Given the description of an element on the screen output the (x, y) to click on. 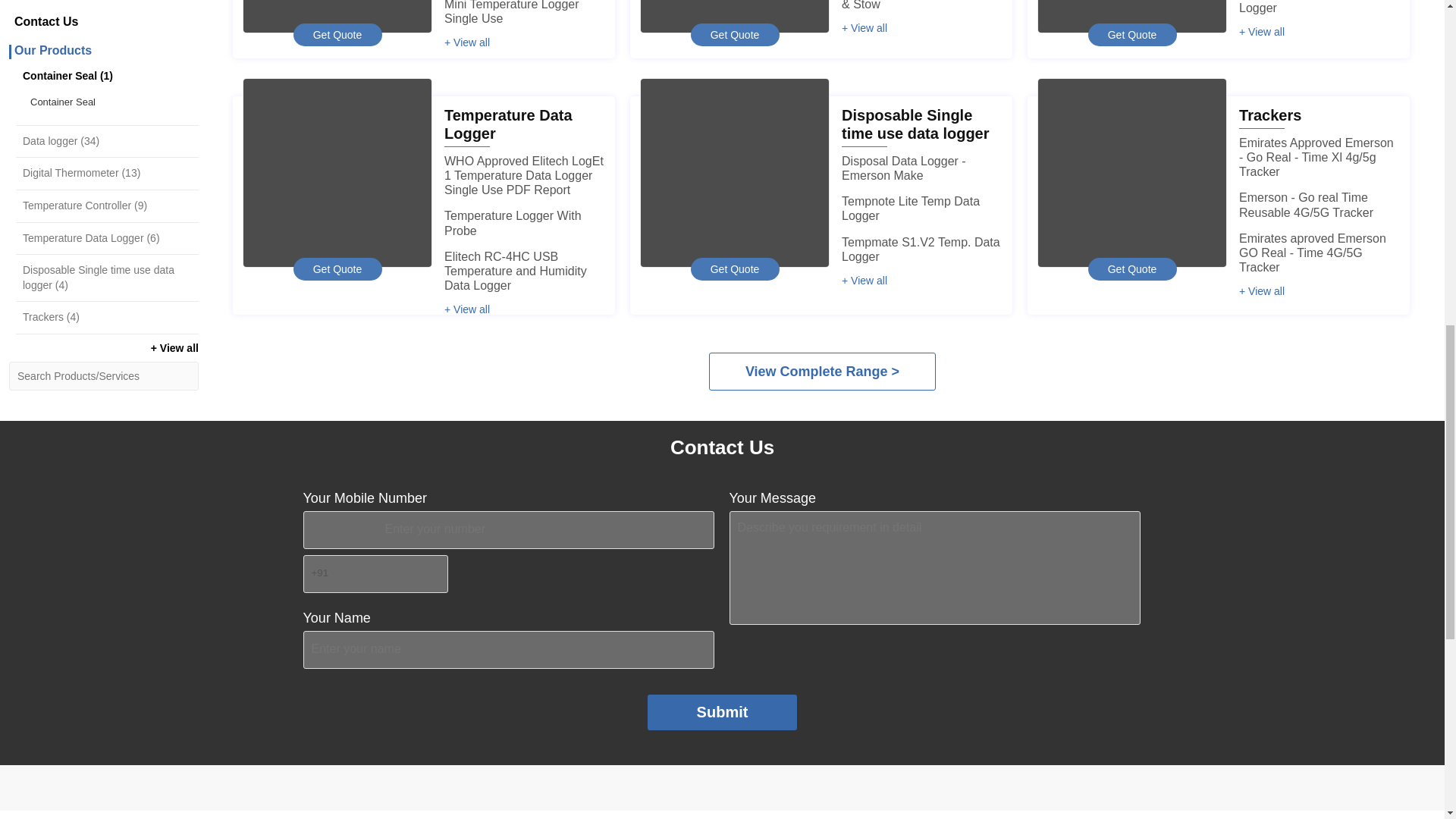
Submit (722, 712)
